Given the description of an element on the screen output the (x, y) to click on. 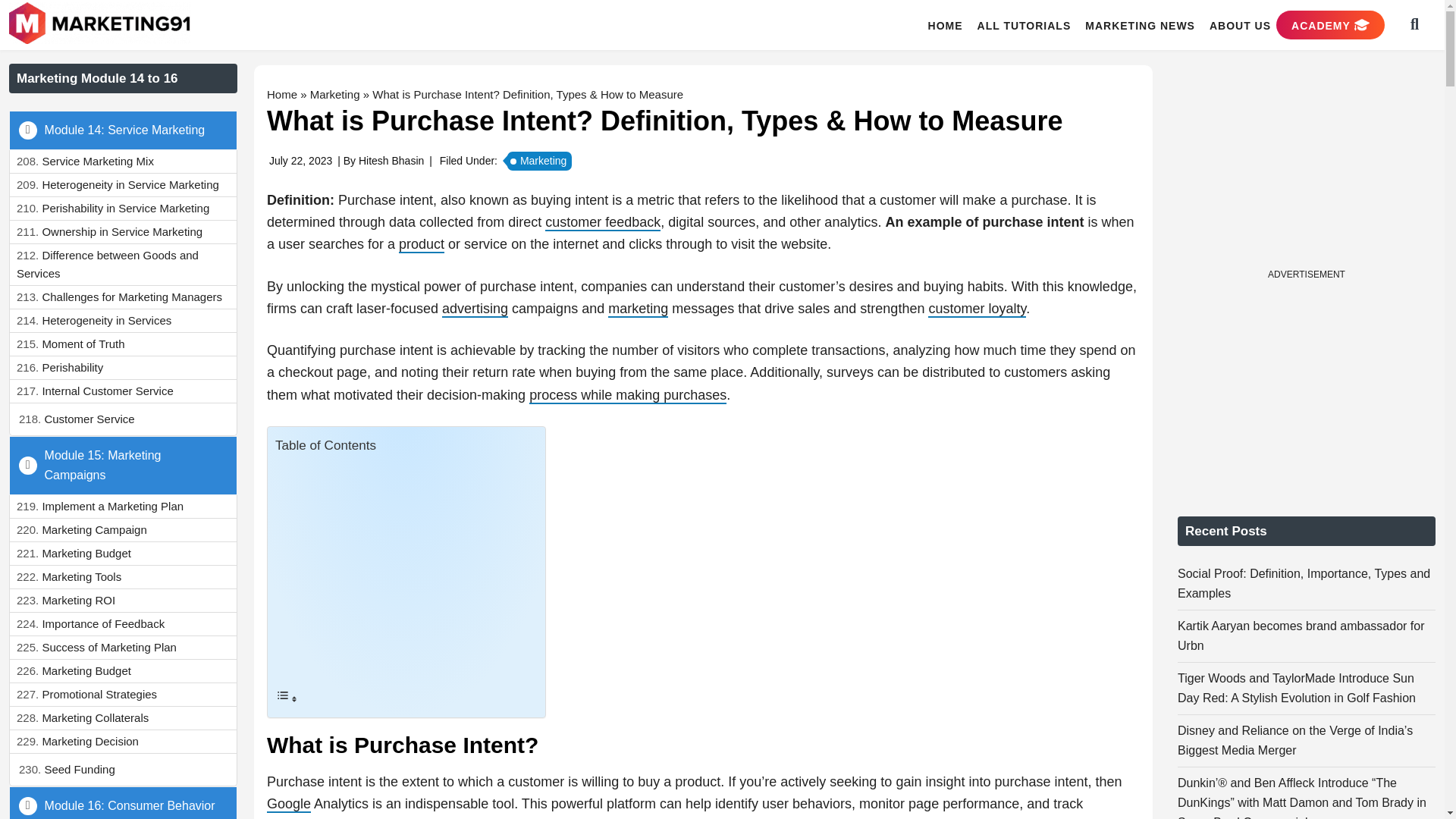
HOME (945, 24)
ALL TUTORIALS (1024, 24)
MARKETING91 (101, 24)
